Given the description of an element on the screen output the (x, y) to click on. 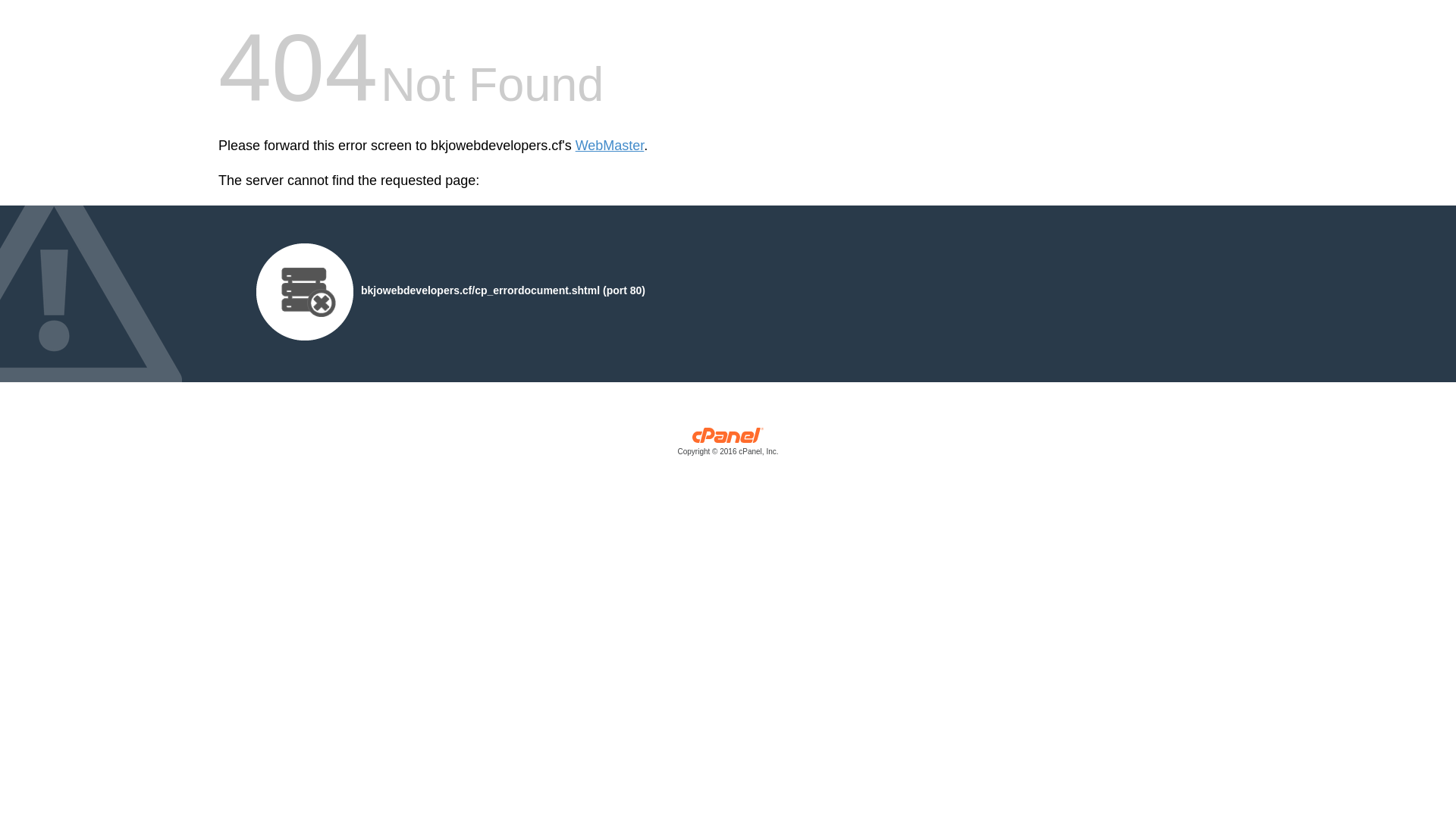
WebMaster Element type: text (609, 145)
